Given the description of an element on the screen output the (x, y) to click on. 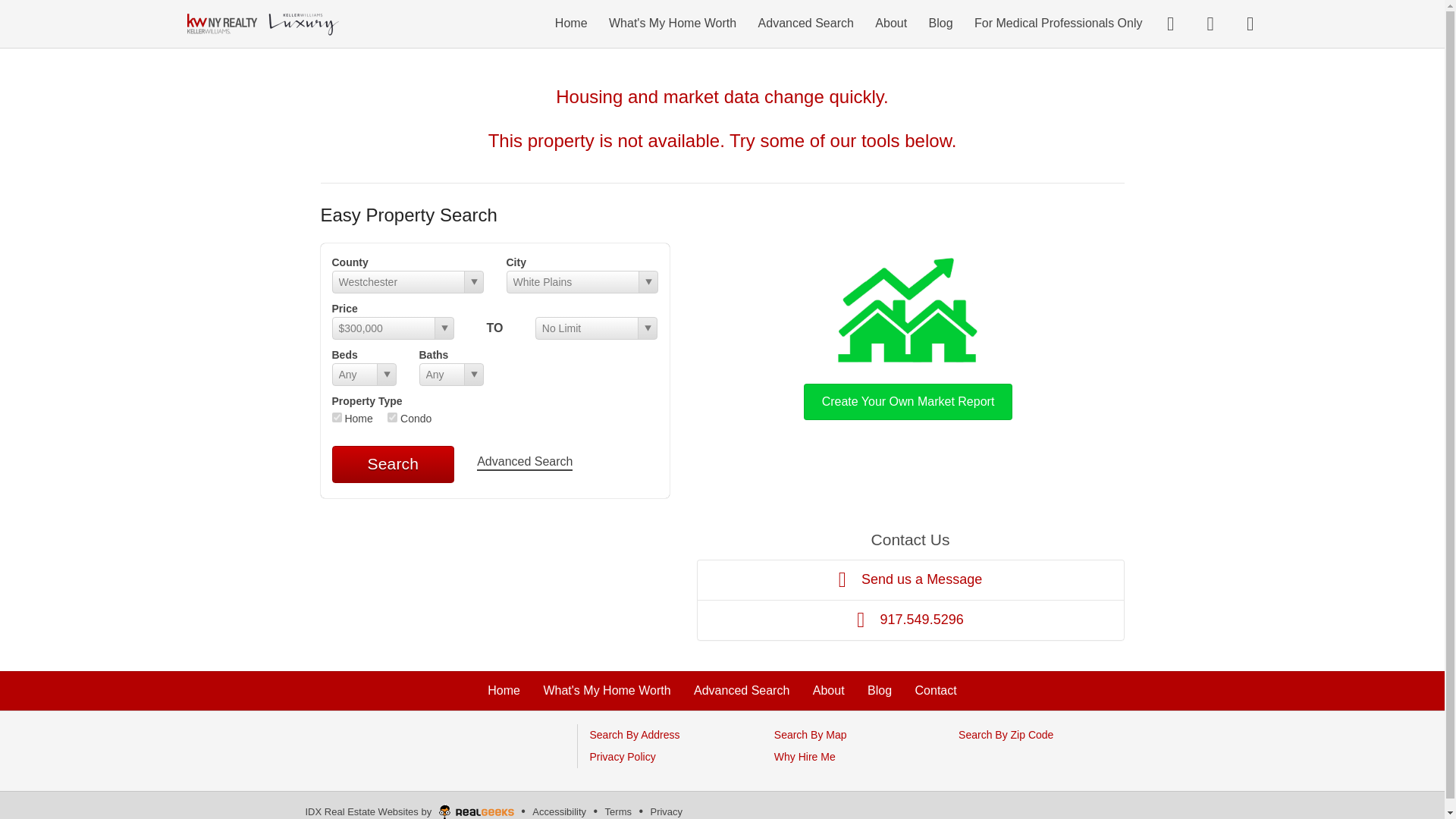
Search (392, 463)
About (828, 689)
Search By Address (634, 734)
Home (503, 689)
Terms (617, 811)
Advanced Search (741, 689)
IDX Real Estate Websites by (409, 808)
What's My Home Worth (606, 689)
Search By Map (810, 734)
Blog (879, 689)
